Given the description of an element on the screen output the (x, y) to click on. 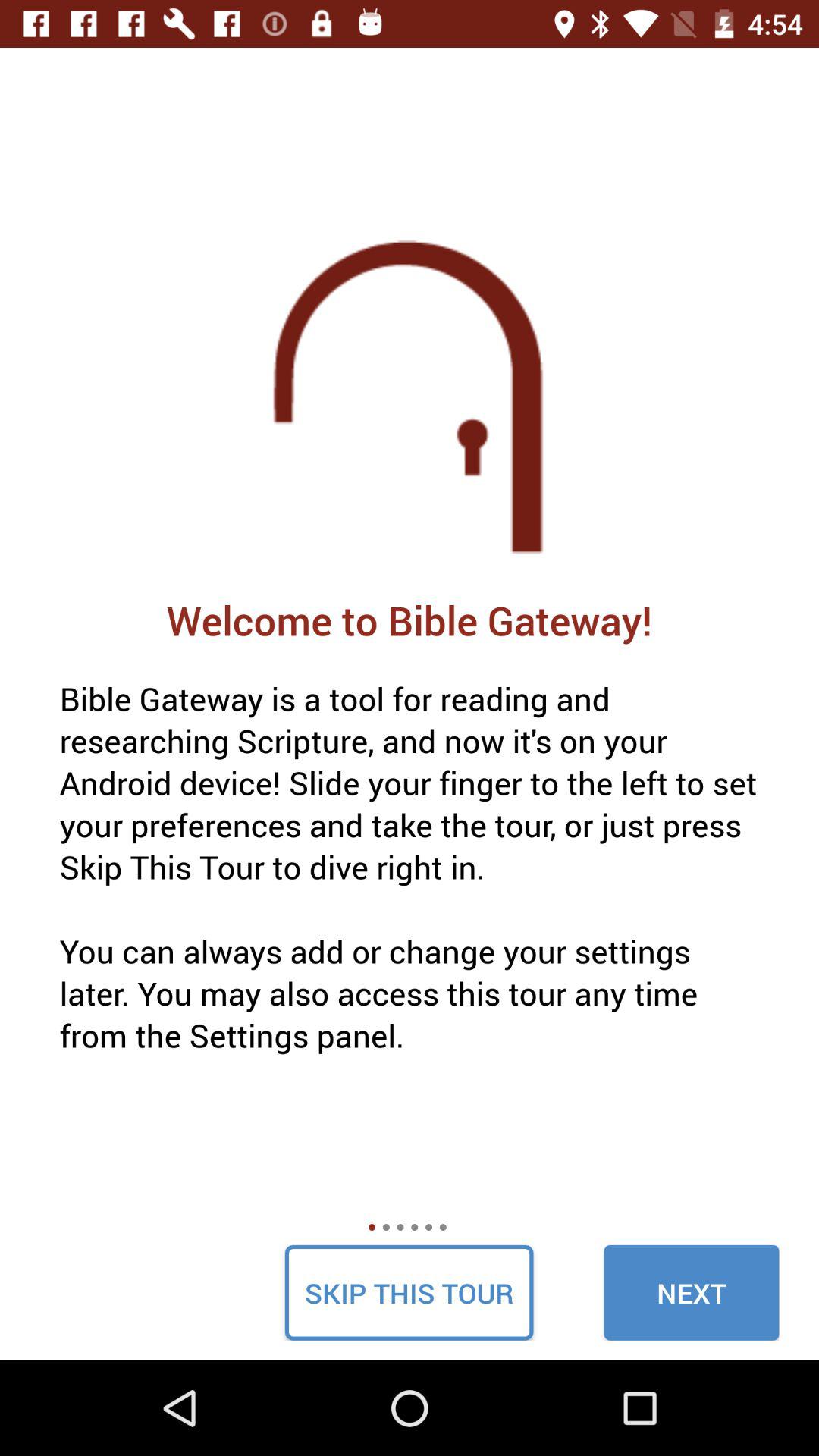
turn off the item to the right of the skip this tour icon (691, 1292)
